Given the description of an element on the screen output the (x, y) to click on. 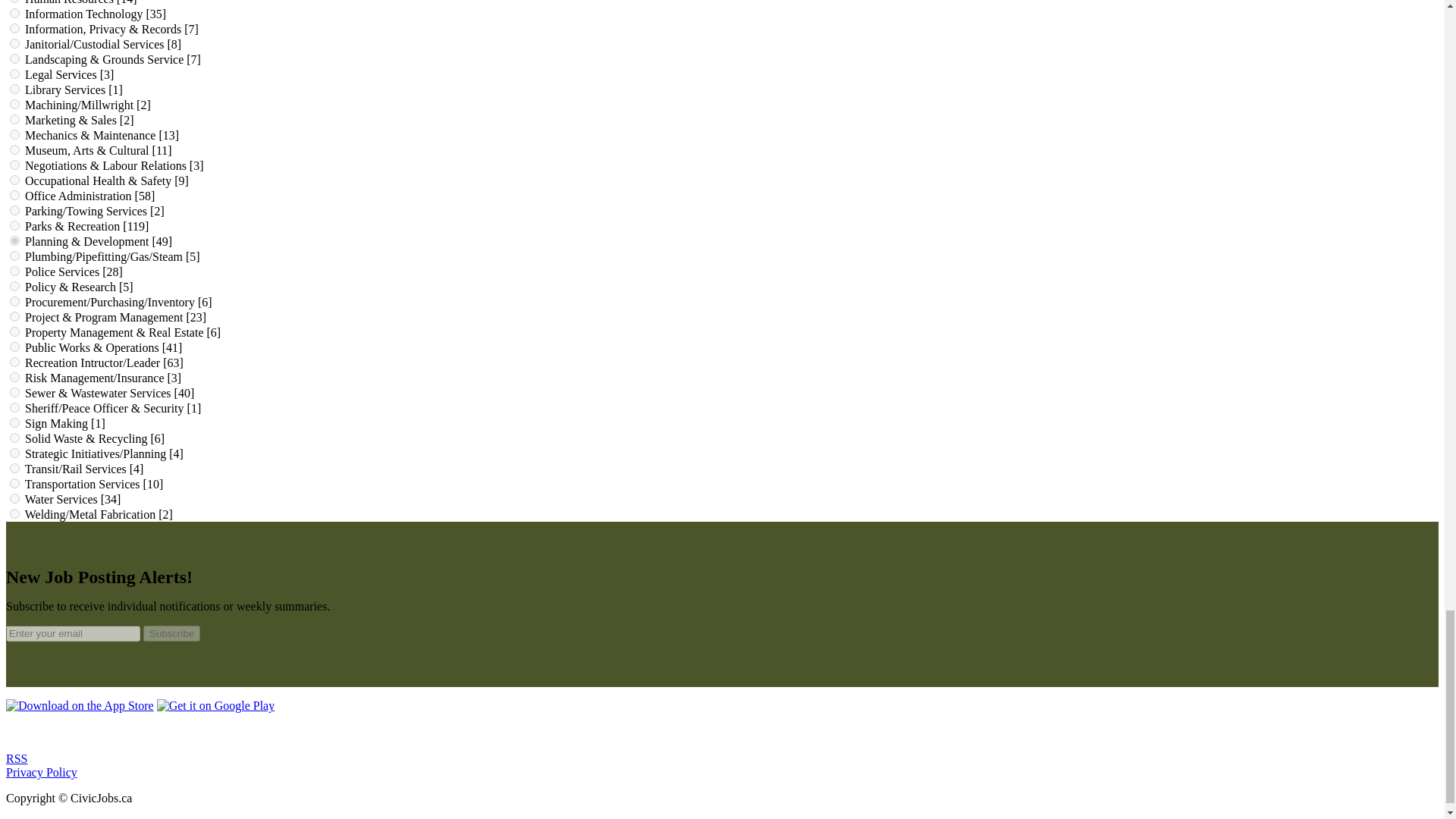
Download on the App Store (79, 705)
Get it on Google Play (216, 705)
